Given the description of an element on the screen output the (x, y) to click on. 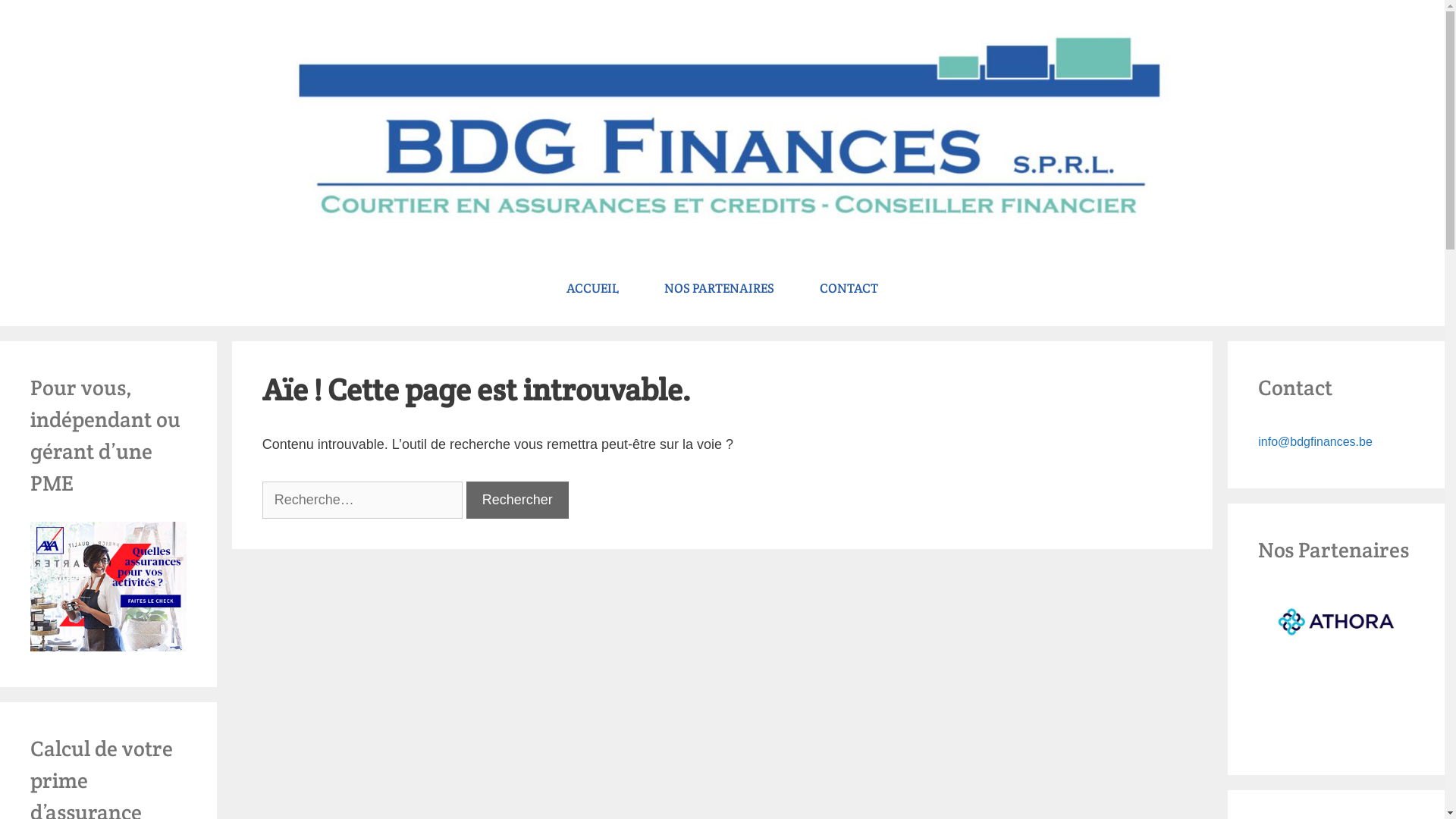
ACCUEIL Element type: text (592, 288)
info@bdgfinances.be Element type: text (1315, 441)
NOS PARTENAIRES Element type: text (719, 288)
Rechercher Element type: text (51, 18)
Rechercher Element type: text (517, 499)
CONTACT Element type: text (848, 288)
